Given the description of an element on the screen output the (x, y) to click on. 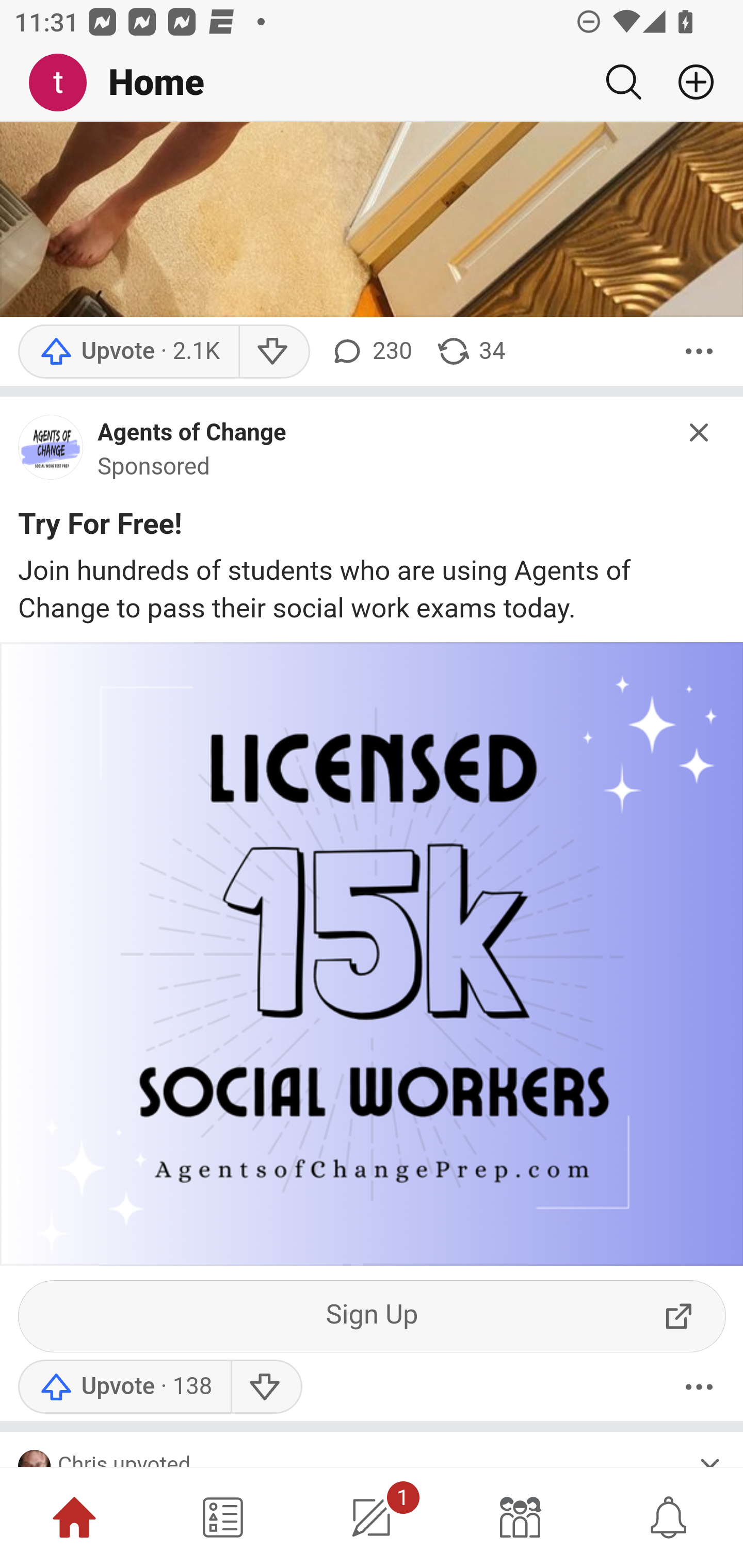
Me (64, 83)
Search (623, 82)
Add (688, 82)
Upvote (127, 351)
Downvote (273, 351)
230 comments (369, 351)
34 shares (470, 351)
More (699, 351)
Hide (699, 433)
main-qimg-2a5b8cc51d17afce4865580d4bdd4ecf (50, 451)
Agents of Change (191, 433)
Try For Free! (99, 528)
Sign Up ExternalLink (372, 1317)
Upvote (124, 1387)
Downvote (266, 1387)
More (699, 1387)
1 (371, 1517)
